Given the description of an element on the screen output the (x, y) to click on. 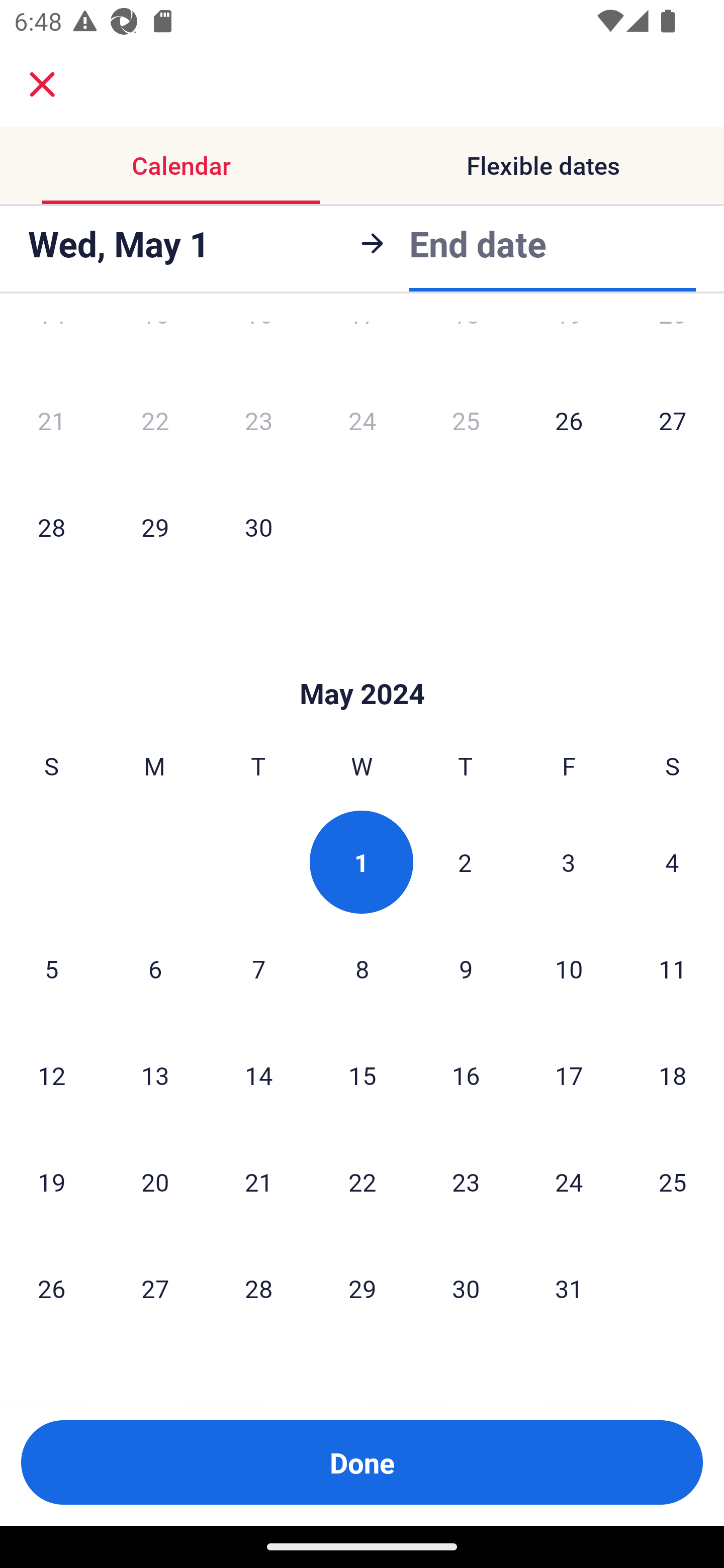
close. (42, 84)
Flexible dates (542, 164)
End date (477, 240)
21 Sunday, April 21, 2024 (51, 419)
22 Monday, April 22, 2024 (155, 419)
23 Tuesday, April 23, 2024 (258, 419)
24 Wednesday, April 24, 2024 (362, 419)
25 Thursday, April 25, 2024 (465, 419)
26 Friday, April 26, 2024 (569, 419)
27 Saturday, April 27, 2024 (672, 419)
28 Sunday, April 28, 2024 (51, 526)
29 Monday, April 29, 2024 (155, 526)
30 Tuesday, April 30, 2024 (258, 526)
Skip to Done (362, 662)
2 Thursday, May 2, 2024 (464, 862)
3 Friday, May 3, 2024 (568, 862)
4 Saturday, May 4, 2024 (672, 862)
5 Sunday, May 5, 2024 (51, 968)
6 Monday, May 6, 2024 (155, 968)
7 Tuesday, May 7, 2024 (258, 968)
8 Wednesday, May 8, 2024 (362, 968)
9 Thursday, May 9, 2024 (465, 968)
10 Friday, May 10, 2024 (569, 968)
11 Saturday, May 11, 2024 (672, 968)
12 Sunday, May 12, 2024 (51, 1075)
13 Monday, May 13, 2024 (155, 1075)
14 Tuesday, May 14, 2024 (258, 1075)
15 Wednesday, May 15, 2024 (362, 1075)
16 Thursday, May 16, 2024 (465, 1075)
17 Friday, May 17, 2024 (569, 1075)
18 Saturday, May 18, 2024 (672, 1075)
19 Sunday, May 19, 2024 (51, 1182)
20 Monday, May 20, 2024 (155, 1182)
21 Tuesday, May 21, 2024 (258, 1182)
22 Wednesday, May 22, 2024 (362, 1182)
23 Thursday, May 23, 2024 (465, 1182)
24 Friday, May 24, 2024 (569, 1182)
25 Saturday, May 25, 2024 (672, 1182)
26 Sunday, May 26, 2024 (51, 1288)
27 Monday, May 27, 2024 (155, 1288)
28 Tuesday, May 28, 2024 (258, 1288)
29 Wednesday, May 29, 2024 (362, 1288)
30 Thursday, May 30, 2024 (465, 1288)
31 Friday, May 31, 2024 (569, 1288)
Done (361, 1462)
